Given the description of an element on the screen output the (x, y) to click on. 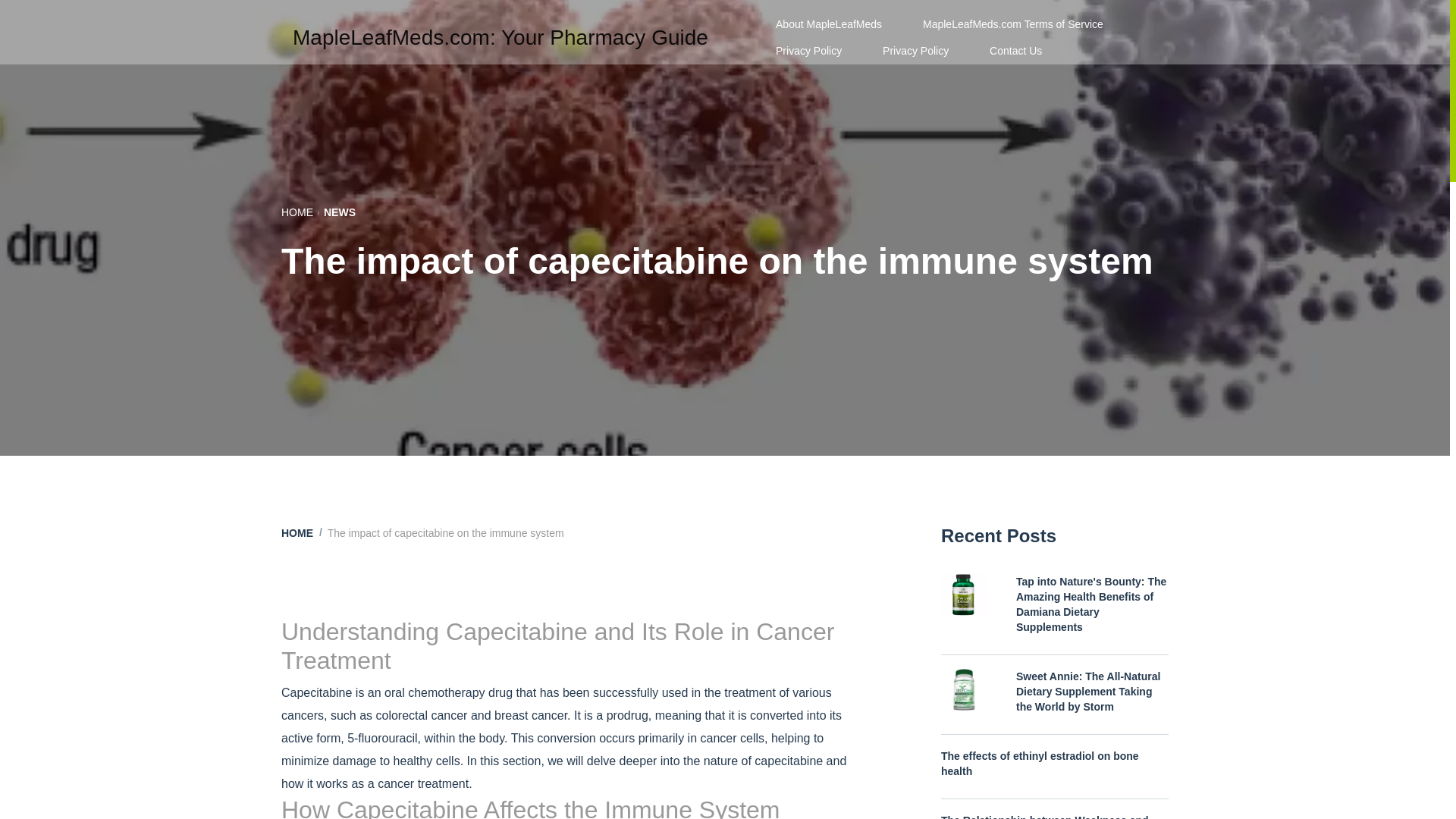
HOME (297, 212)
Privacy Policy (915, 50)
The Relationship between Weakness and Forgiveness (1054, 816)
HOME (297, 532)
Contact Us (1016, 50)
The effects of ethinyl estradiol on bone health (1054, 763)
MapleLeafMeds.com Terms of Service (1013, 24)
MapleLeafMeds.com: Your Pharmacy Guide (499, 37)
Privacy Policy (808, 50)
About MapleLeafMeds (829, 24)
